Given the description of an element on the screen output the (x, y) to click on. 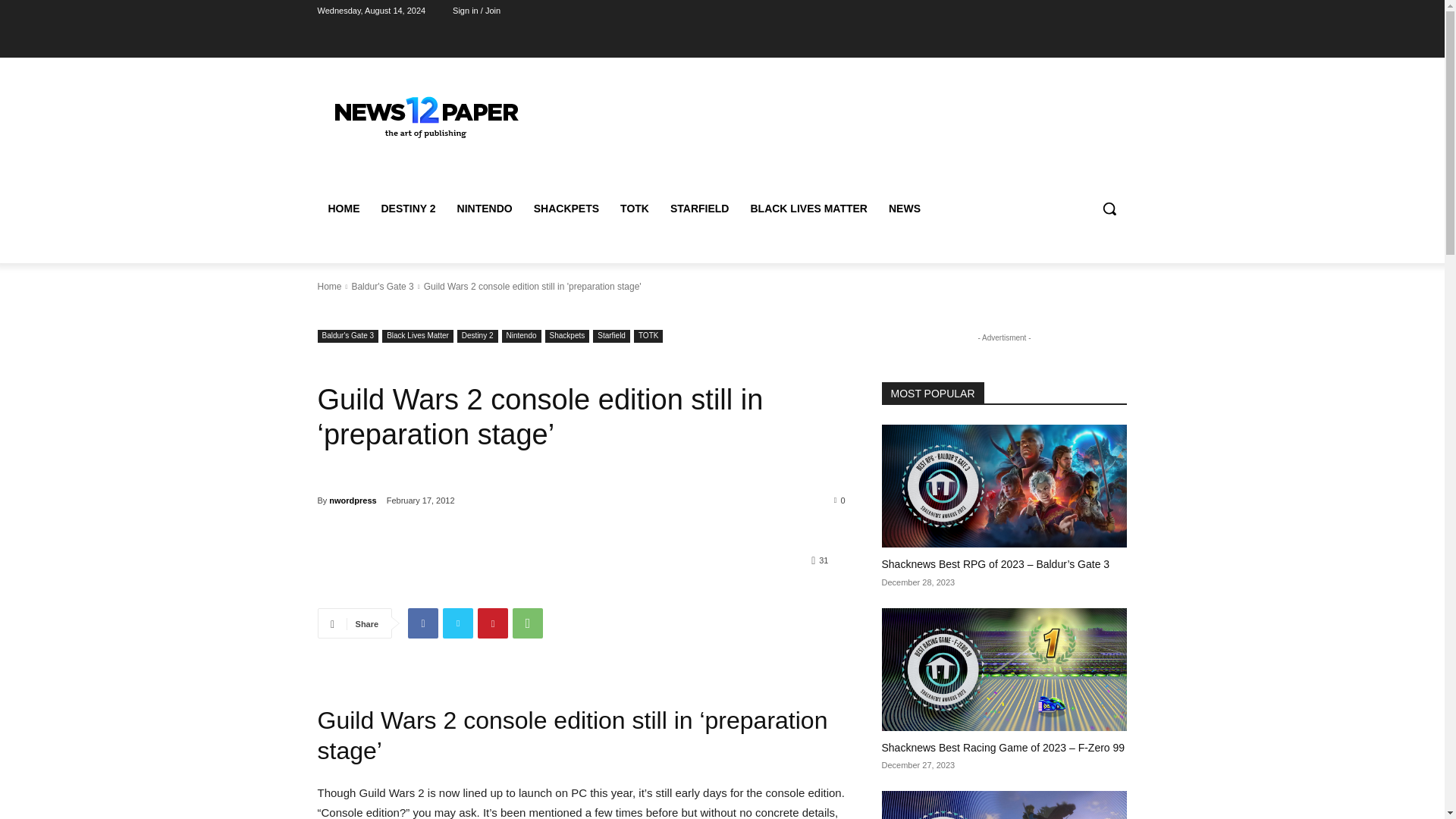
Baldur's Gate 3 (347, 336)
TOTK (647, 336)
Starfield (611, 336)
Home (328, 286)
STARFIELD (699, 208)
Baldur's Gate 3 (381, 286)
NINTENDO (484, 208)
Destiny 2 (477, 336)
Nintendo (521, 336)
SHACKPETS (566, 208)
